Given the description of an element on the screen output the (x, y) to click on. 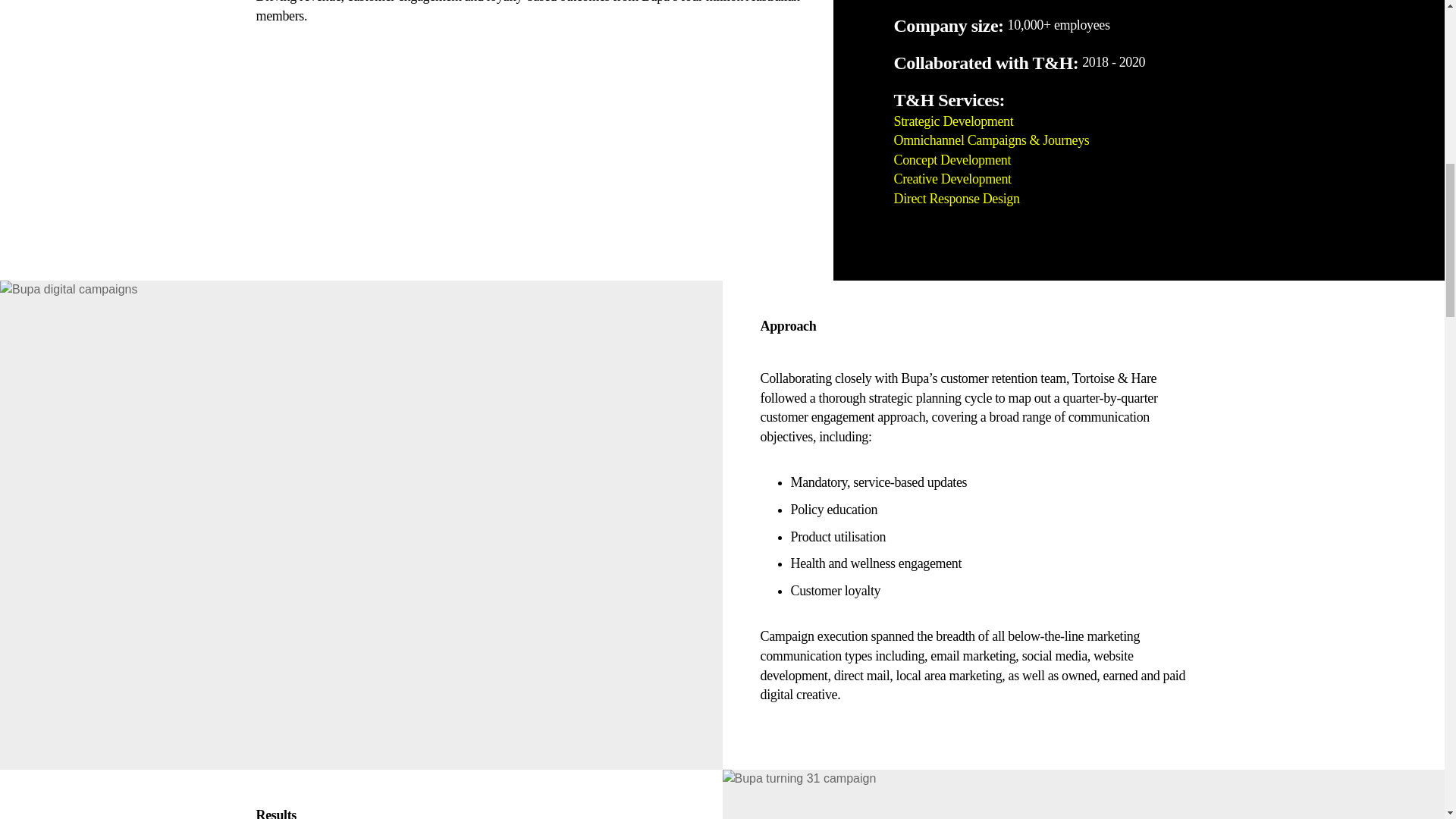
Concept Development (952, 159)
Strategic Development (953, 120)
Direct Response Design (956, 198)
